Given the description of an element on the screen output the (x, y) to click on. 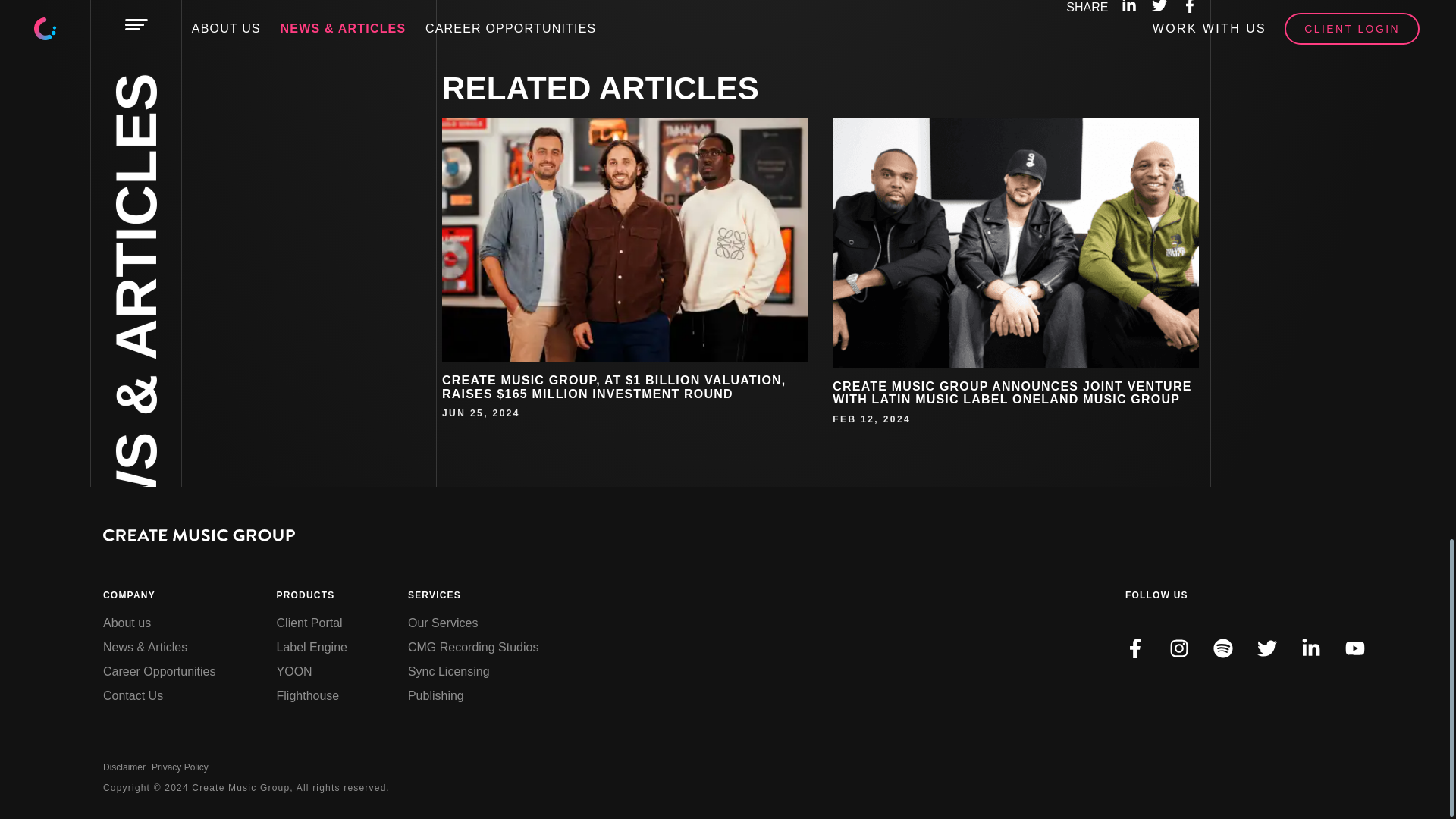
Link to Create Music Group Label Engine page (311, 647)
CMG Spotify (1234, 666)
Contact Us (159, 696)
Label Engine (311, 647)
Link to Create Music Group About us page (159, 623)
CMG Twitter (1279, 666)
CMG Facebook (1134, 648)
Link to Create Music Group home page (199, 536)
Publishing (472, 696)
Privacy Policy (179, 767)
